Given the description of an element on the screen output the (x, y) to click on. 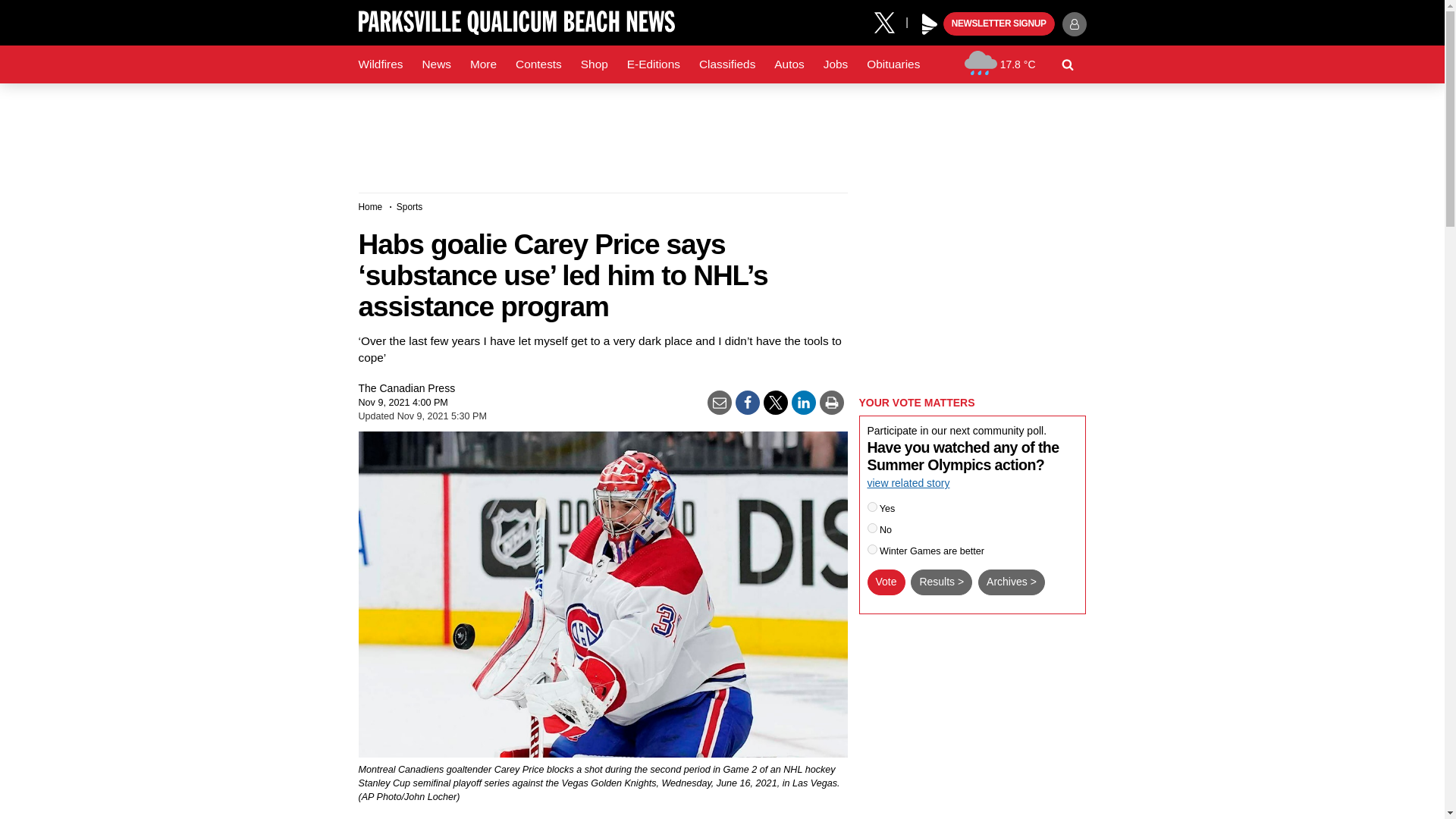
261 (872, 549)
Black Press Media (929, 24)
259 (872, 506)
X (889, 21)
Play (929, 24)
News (435, 64)
Wildfires (380, 64)
260 (872, 528)
NEWSLETTER SIGNUP (998, 24)
